Given the description of an element on the screen output the (x, y) to click on. 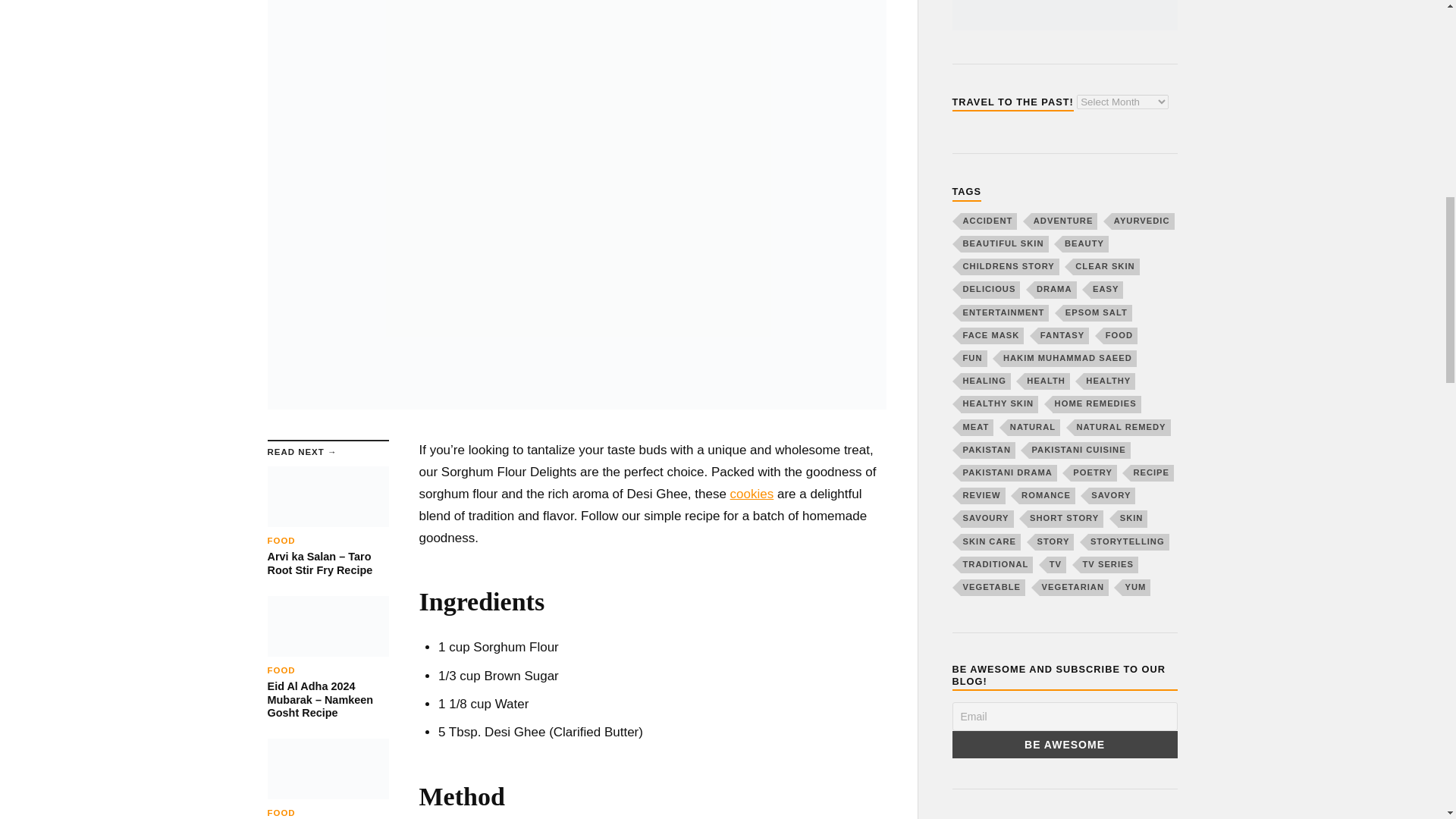
Be Awesome (1064, 744)
